Given the description of an element on the screen output the (x, y) to click on. 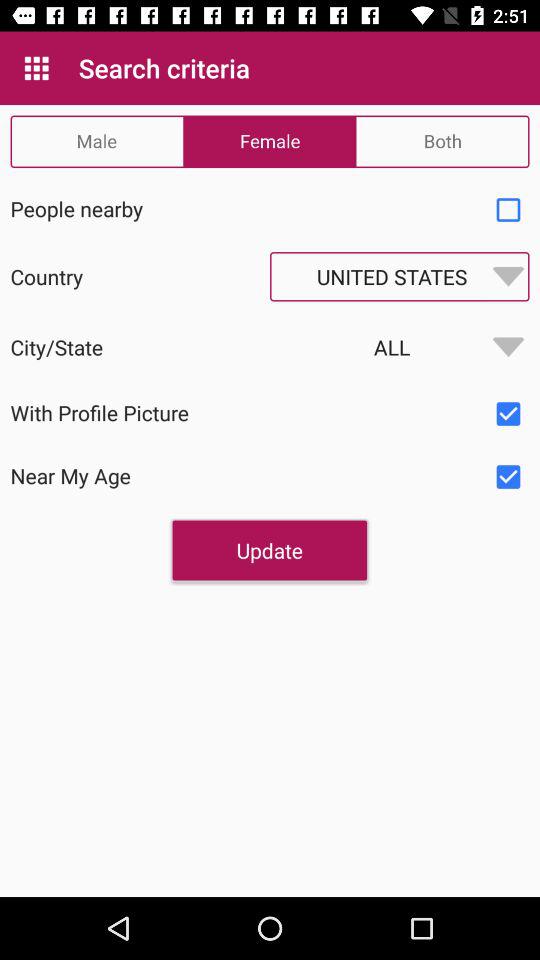
deselect near my age (508, 477)
